Given the description of an element on the screen output the (x, y) to click on. 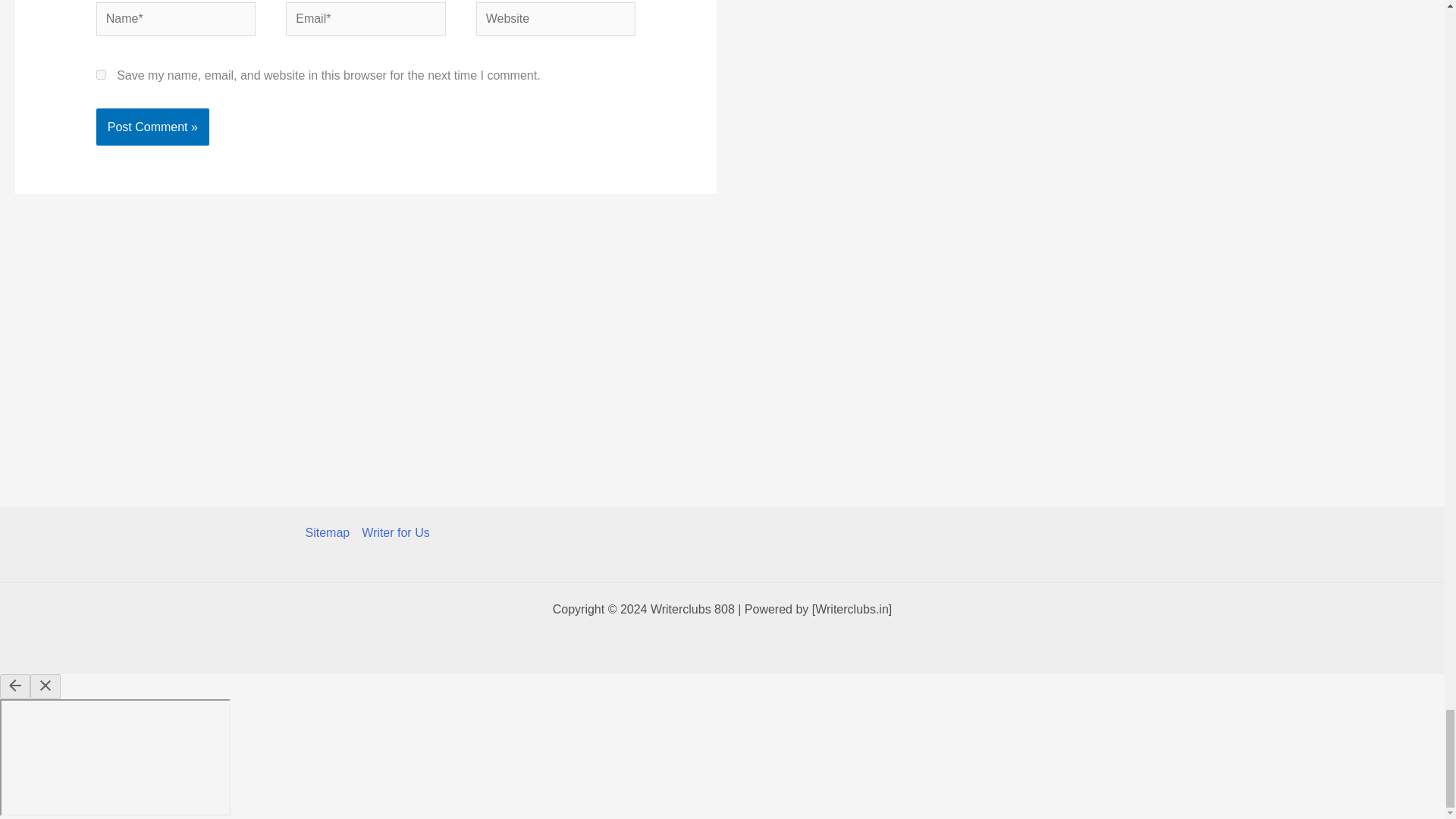
yes (101, 74)
